Given the description of an element on the screen output the (x, y) to click on. 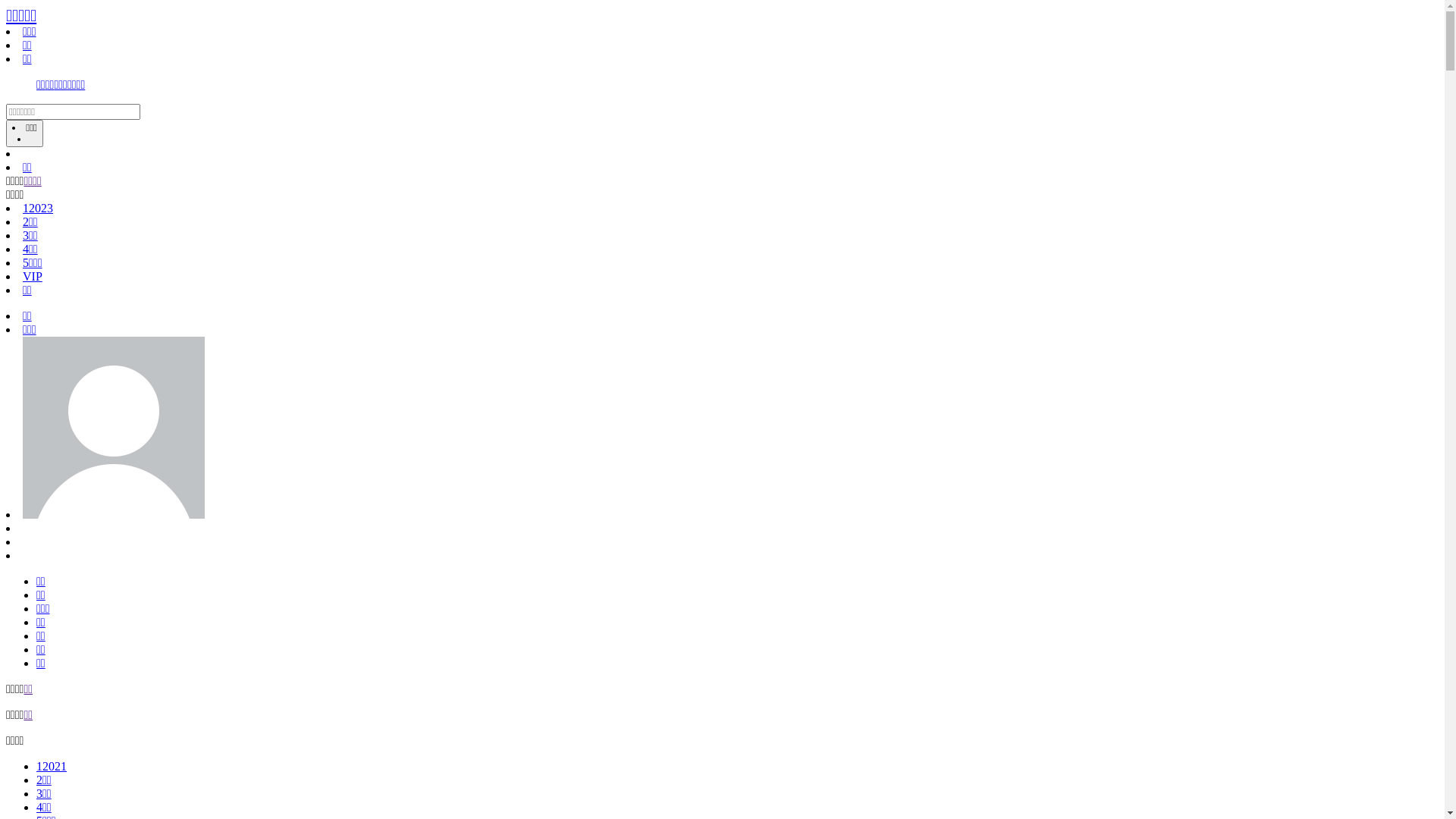
VIP Element type: text (32, 275)
12023 Element type: text (37, 207)
12021 Element type: text (51, 765)
